Given the description of an element on the screen output the (x, y) to click on. 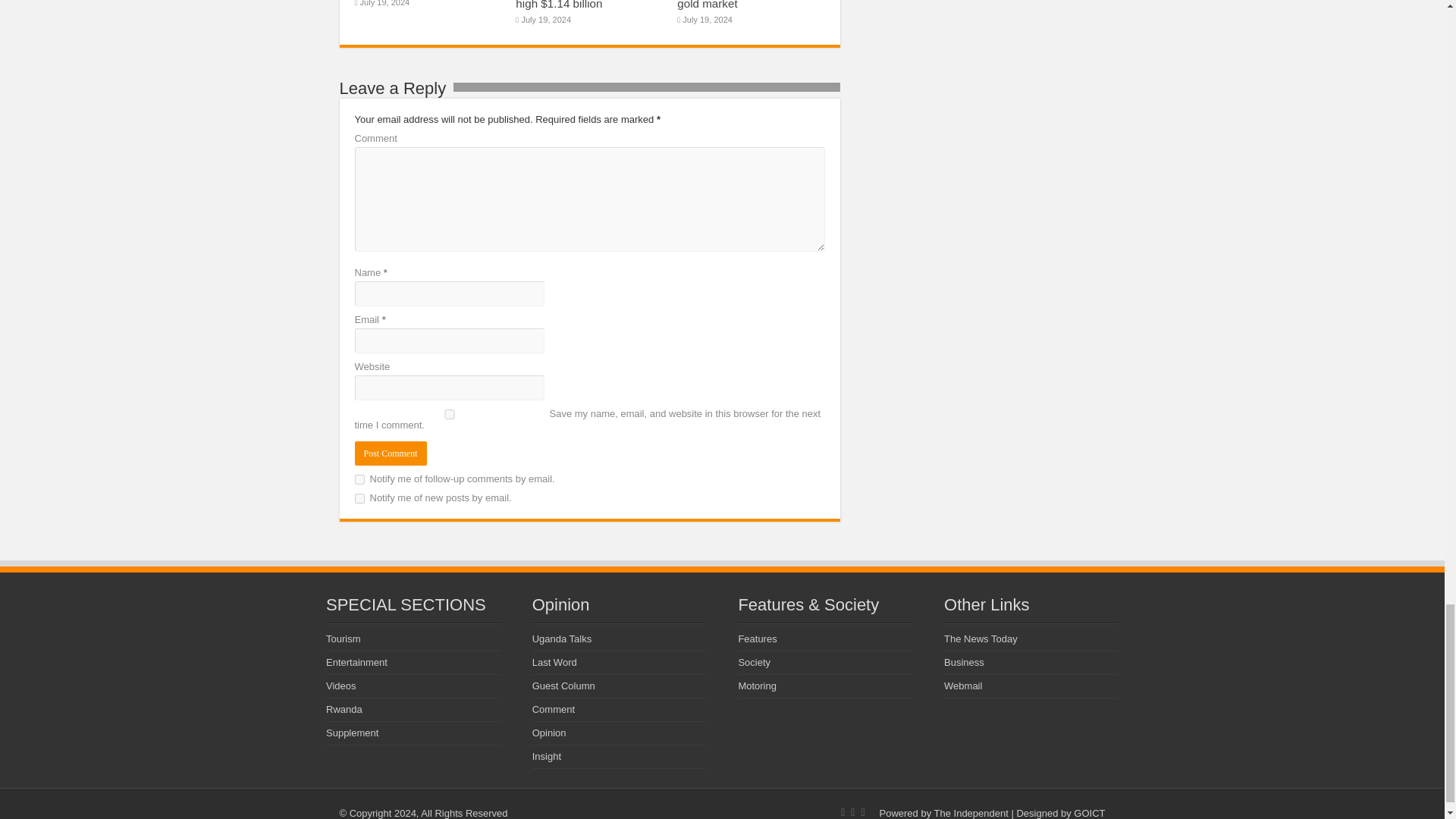
subscribe (360, 479)
Post Comment (390, 453)
subscribe (360, 498)
yes (449, 414)
